Given the description of an element on the screen output the (x, y) to click on. 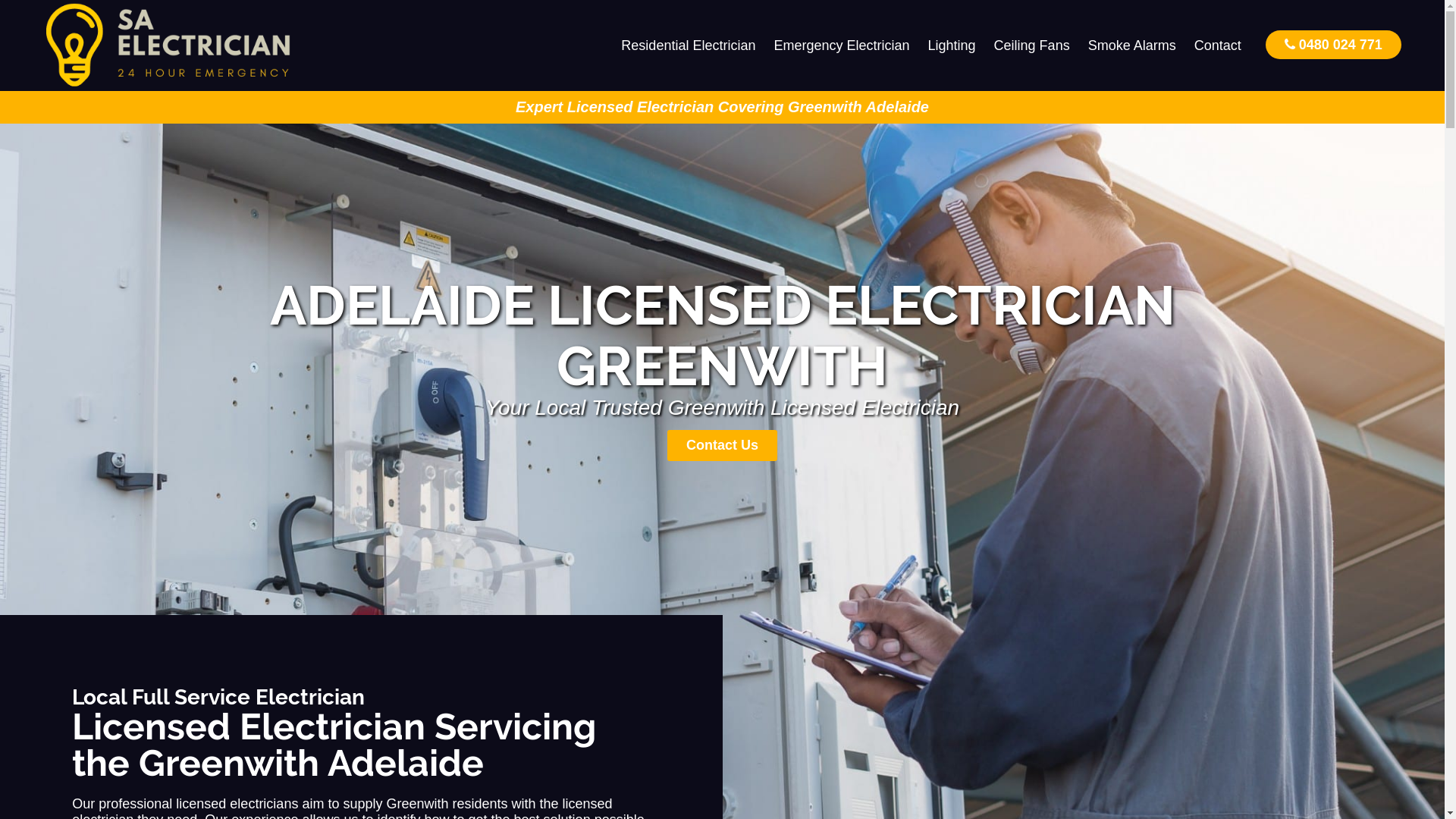
Lighting Element type: text (952, 45)
Smoke Alarms Element type: text (1132, 45)
Contact Us Element type: text (722, 445)
0480 024 771 Element type: text (1333, 44)
Contact Element type: text (1217, 45)
Residential Electrician Element type: text (687, 45)
Ceiling Fans Element type: text (1032, 45)
Emergency Electrician Element type: text (841, 45)
